Given the description of an element on the screen output the (x, y) to click on. 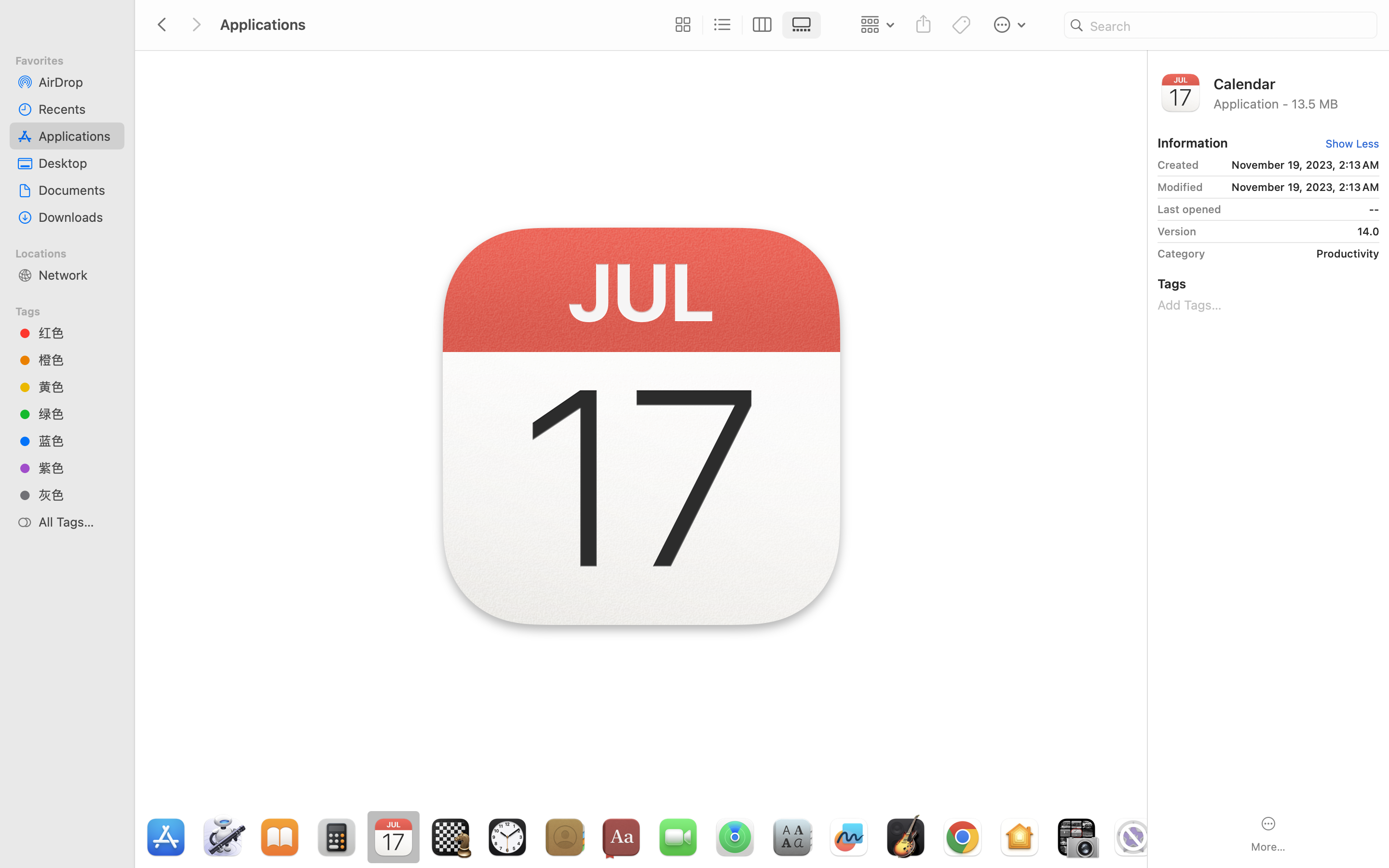
Created Element type: AXStaticText (1177, 164)
0 Element type: AXRadioButton (680, 24)
14.0 Element type: AXStaticText (1290, 231)
Version Element type: AXStaticText (1176, 231)
Information Element type: AXStaticText (1192, 142)
